Given the description of an element on the screen output the (x, y) to click on. 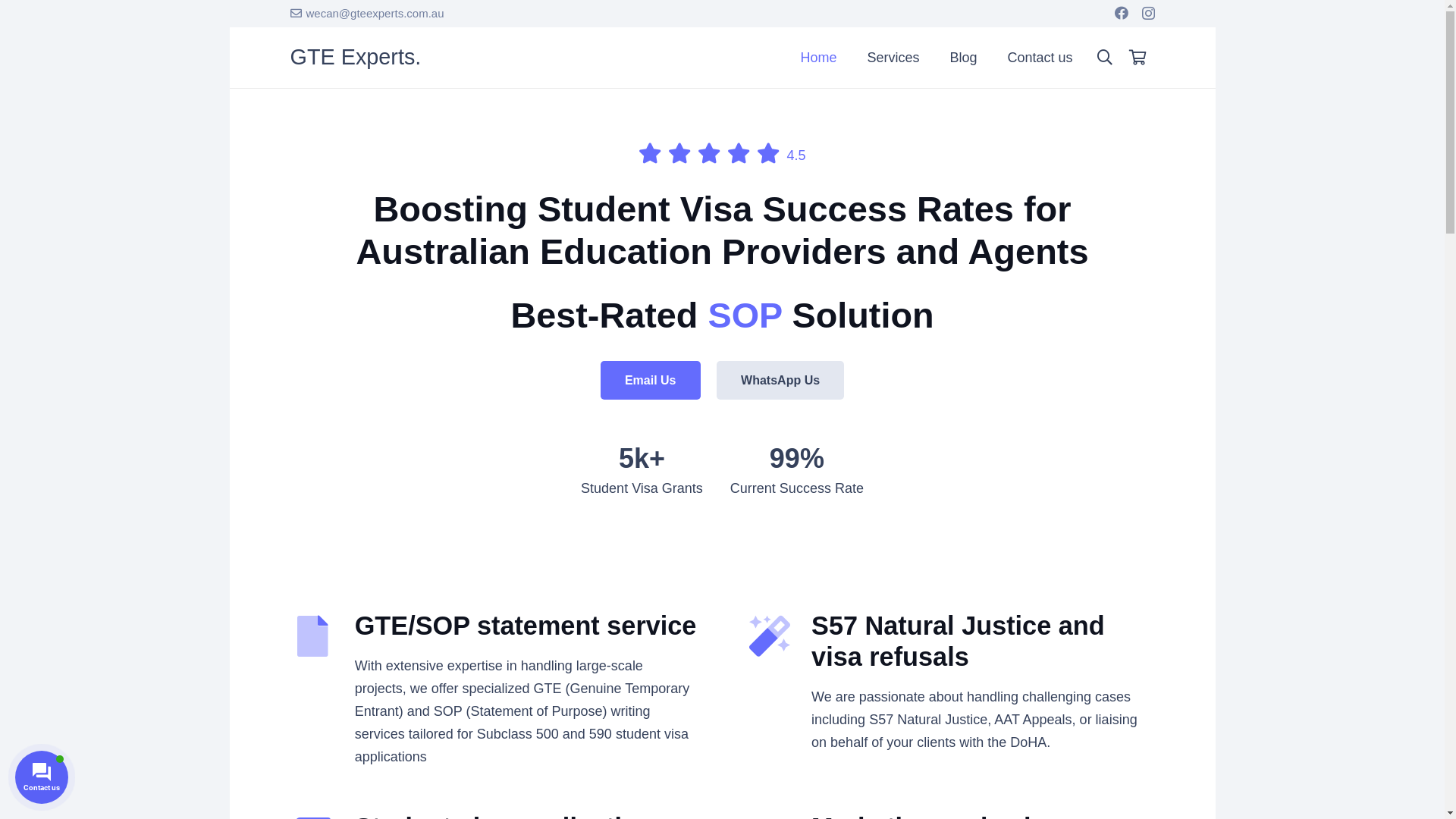
Facebook Element type: hover (1121, 12)
Instagram Element type: hover (1148, 13)
GTE Experts. Element type: text (354, 56)
Home Element type: text (817, 57)
0 Element type: text (1137, 57)
Contact us Element type: text (1039, 57)
WhatsApp Us Element type: text (780, 379)
Blog Element type: text (962, 57)
Services Element type: text (892, 57)
4.5 Element type: text (795, 154)
wecan@gteexperts.com.au Element type: text (366, 12)
Email Us Element type: text (650, 379)
